Given the description of an element on the screen output the (x, y) to click on. 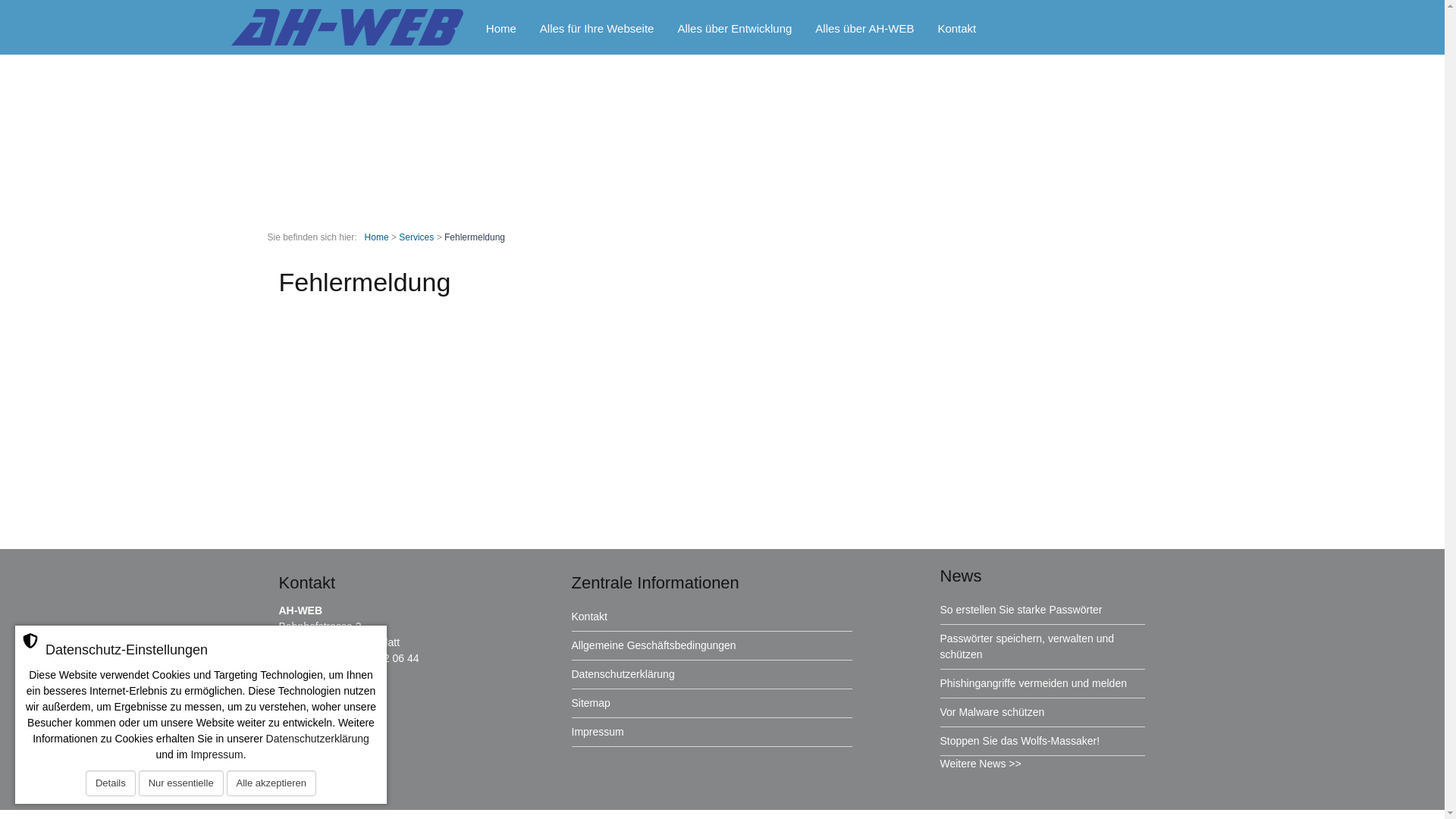
Alle akzeptieren Element type: text (271, 783)
Home Element type: text (501, 29)
Services Element type: text (415, 237)
Impressum Element type: text (597, 731)
Weitere News >> Element type: text (980, 763)
ah-web.ch Element type: text (321, 690)
Stoppen Sie das Wolfs-Massaker! Element type: text (1020, 740)
Sitemap Element type: text (590, 702)
Home Element type: text (376, 237)
Phishingangriffe vermeiden und melden Element type: text (1033, 683)
Kontakt Element type: text (956, 29)
info@ah-web.ch Element type: text (335, 674)
Nur essentielle Element type: text (180, 783)
Impressum Element type: text (216, 754)
Details Element type: text (110, 783)
Kontakt Element type: text (589, 616)
